Given the description of an element on the screen output the (x, y) to click on. 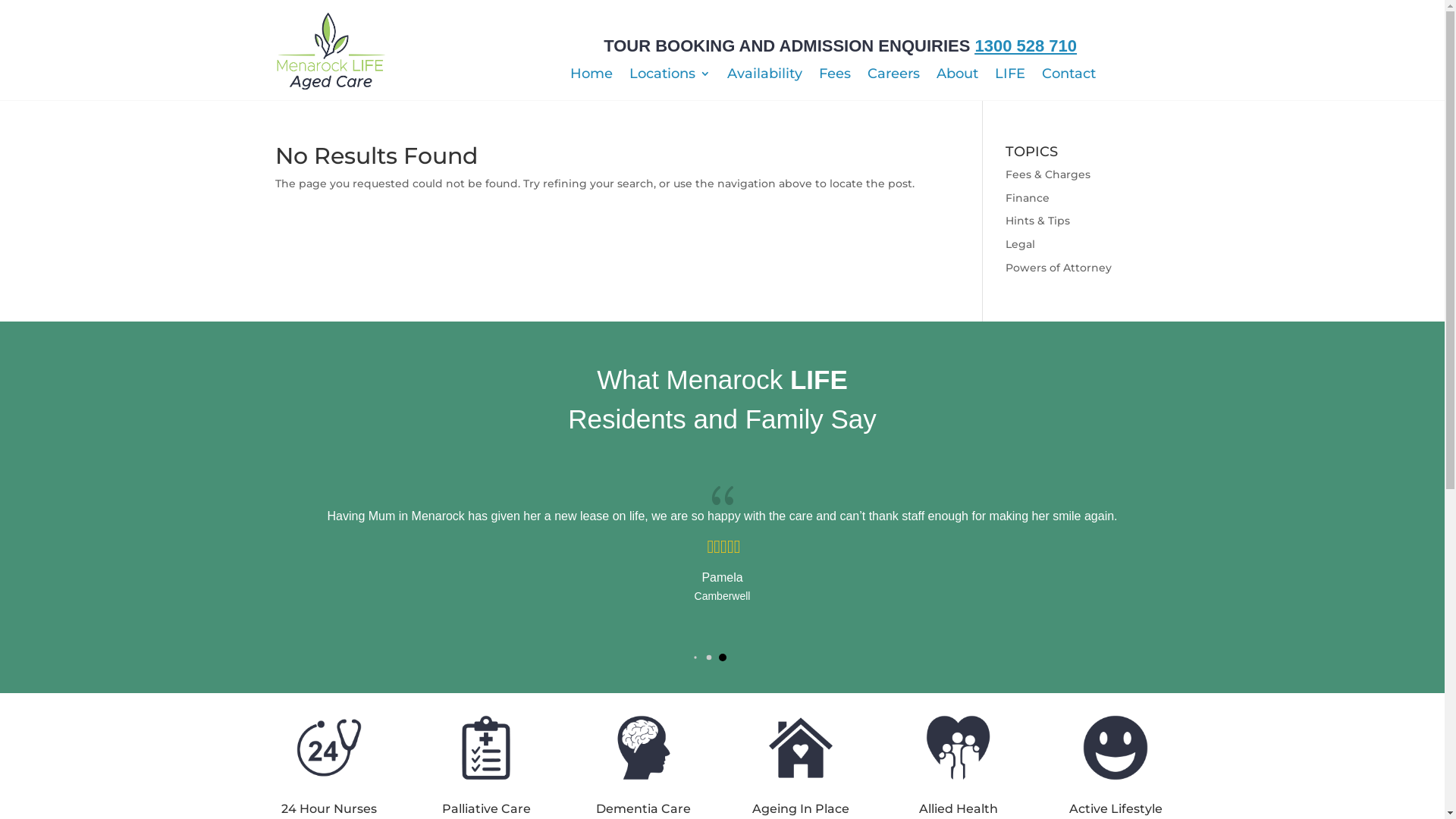
Menarock LIFE Aged Care Element type: hover (330, 51)
Careers Element type: text (893, 76)
Fees & Charges Element type: text (1047, 174)
Locations Element type: text (669, 76)
Powers of Attorney Element type: text (1058, 267)
Availability Element type: text (764, 76)
1300 528 710 Element type: text (1025, 45)
LIFE Element type: text (1009, 76)
About Element type: text (957, 76)
Fees Element type: text (834, 76)
Contact Element type: text (1068, 76)
Legal Element type: text (1020, 244)
Finance Element type: text (1027, 197)
Home Element type: text (591, 76)
Hints & Tips Element type: text (1037, 220)
